Given the description of an element on the screen output the (x, y) to click on. 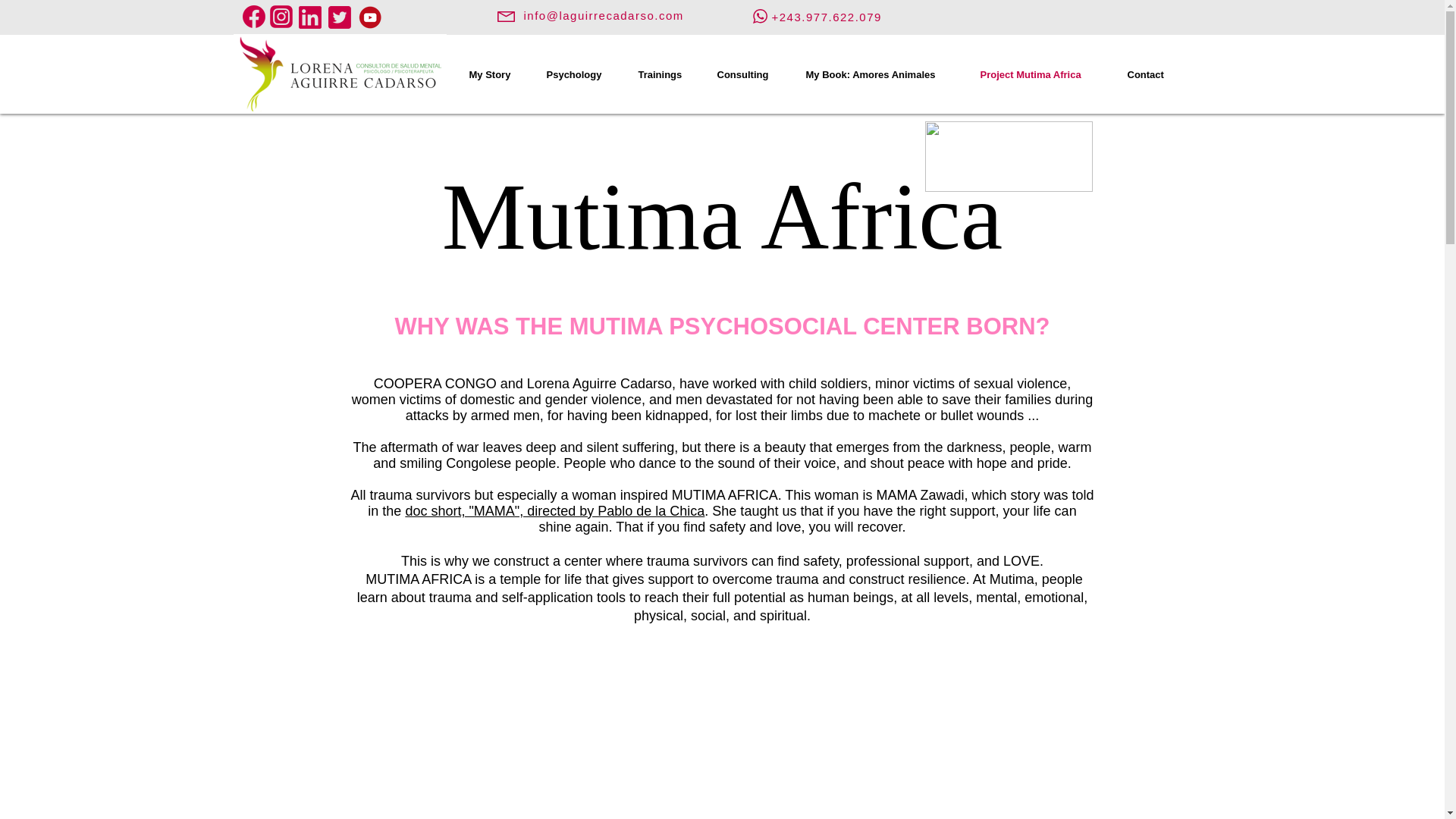
youtube-logo-png-2092.png (371, 16)
Psychology (581, 75)
facebook-logo.png (253, 15)
Consulting (748, 75)
MUTIMA B.jpg (1008, 156)
tw-logo.png (338, 16)
Project Mutima Africa (1042, 75)
My Book: Amores Animales (881, 75)
Contact (1152, 75)
doc short, "MAMA", directed by Pablo de la Chica (554, 510)
